Given the description of an element on the screen output the (x, y) to click on. 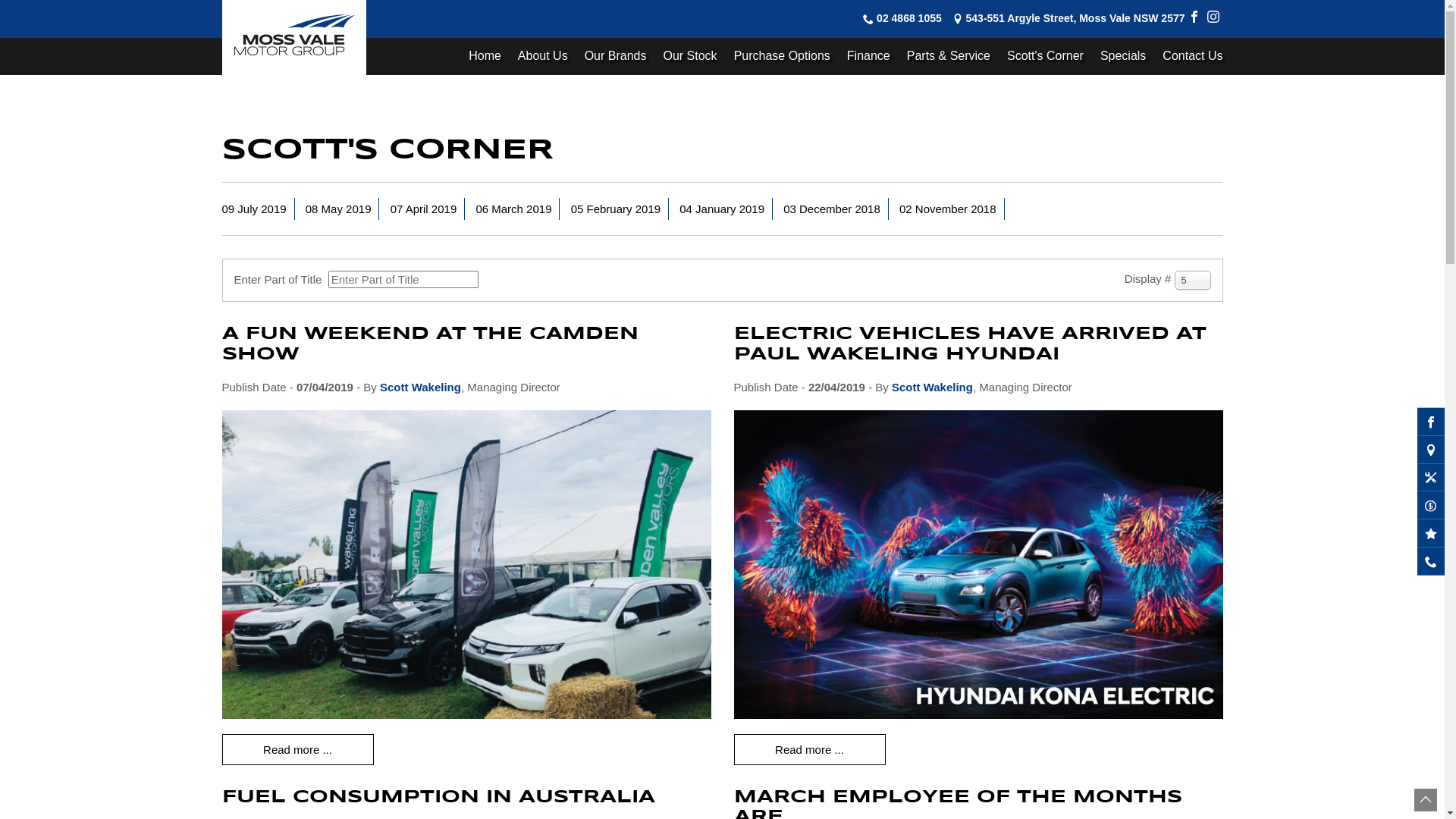
Read more ... Element type: text (297, 749)
06 March 2019 Element type: text (513, 208)
Contact Us Element type: text (1188, 56)
09 July 2019 Element type: text (253, 208)
Read more ... Element type: text (809, 749)
543-551 Argyle Street, Moss Vale NSW 2577 Element type: text (1075, 18)
Finance Element type: text (868, 56)
5 Element type: text (1191, 279)
About Us Element type: text (542, 56)
FUEL CONSUMPTION IN AUSTRALIA Element type: text (437, 797)
A FUN WEEKEND AT THE CAMDEN SHOW Element type: text (429, 343)
Purchase Options Element type: text (781, 56)
03 December 2018 Element type: text (831, 208)
02 November 2018 Element type: text (947, 208)
02 4868 1055 Element type: text (908, 18)
ELECTRIC VEHICLES HAVE ARRIVED AT PAUL WAKELING HYUNDAI Element type: text (970, 343)
Specials Element type: text (1123, 56)
08 May 2019 Element type: text (338, 208)
05 February 2019 Element type: text (615, 208)
07 April 2019 Element type: text (423, 208)
Enter all or part of the title to search for. Element type: hover (403, 279)
04 January 2019 Element type: text (721, 208)
Parts & Service Element type: text (948, 56)
Home Element type: text (484, 56)
Our Brands Element type: text (615, 56)
Our Stock Element type: text (689, 56)
Scott's Corner Element type: text (1045, 56)
